Given the description of an element on the screen output the (x, y) to click on. 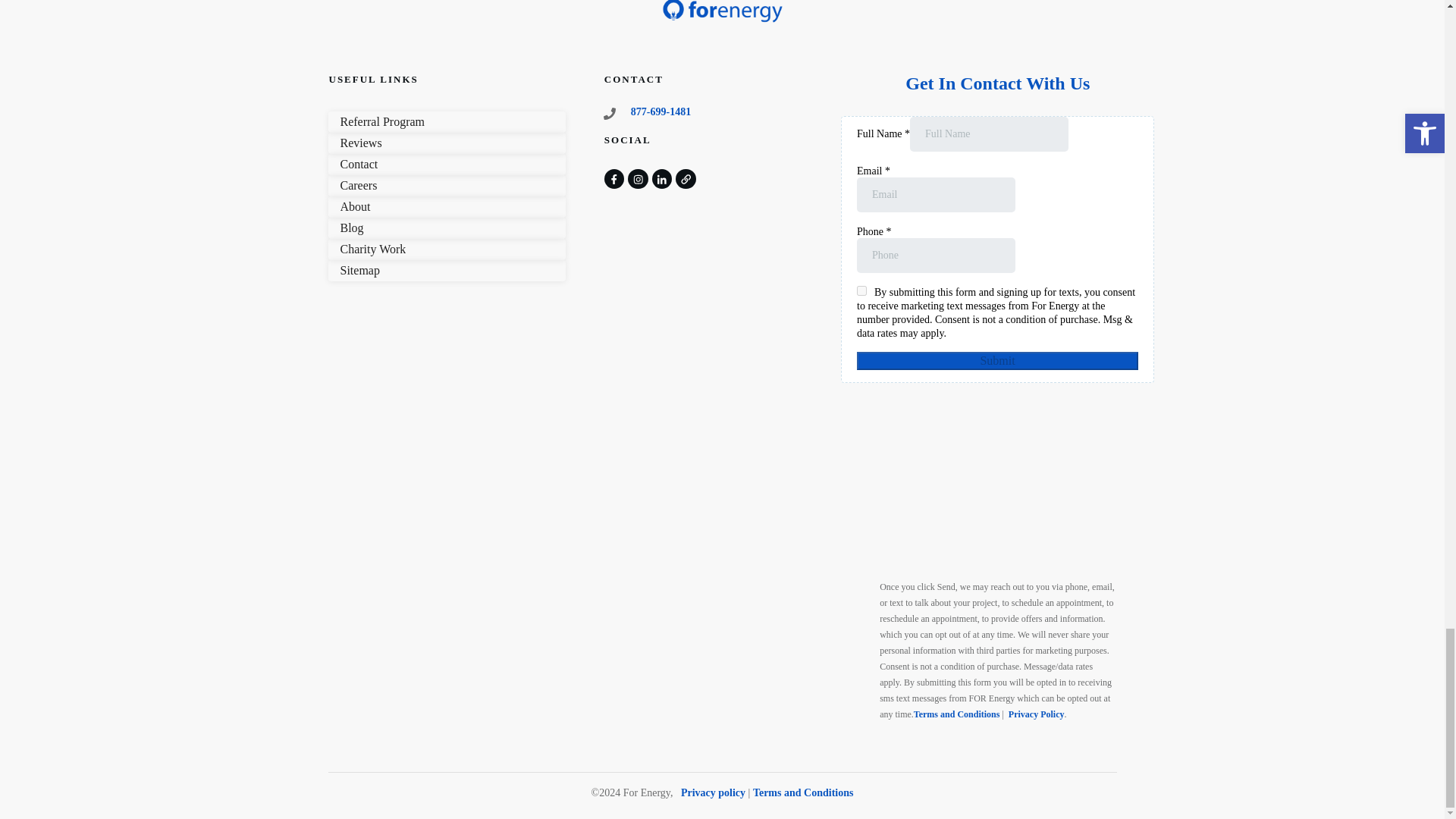
Charity Work (372, 248)
Reviews (360, 143)
Careers (358, 185)
Charity Work (372, 248)
Referral Program (382, 121)
877-699-1481 (660, 111)
Sitemap (358, 270)
Contact (358, 164)
Blog (350, 228)
Blog (350, 228)
